Given the description of an element on the screen output the (x, y) to click on. 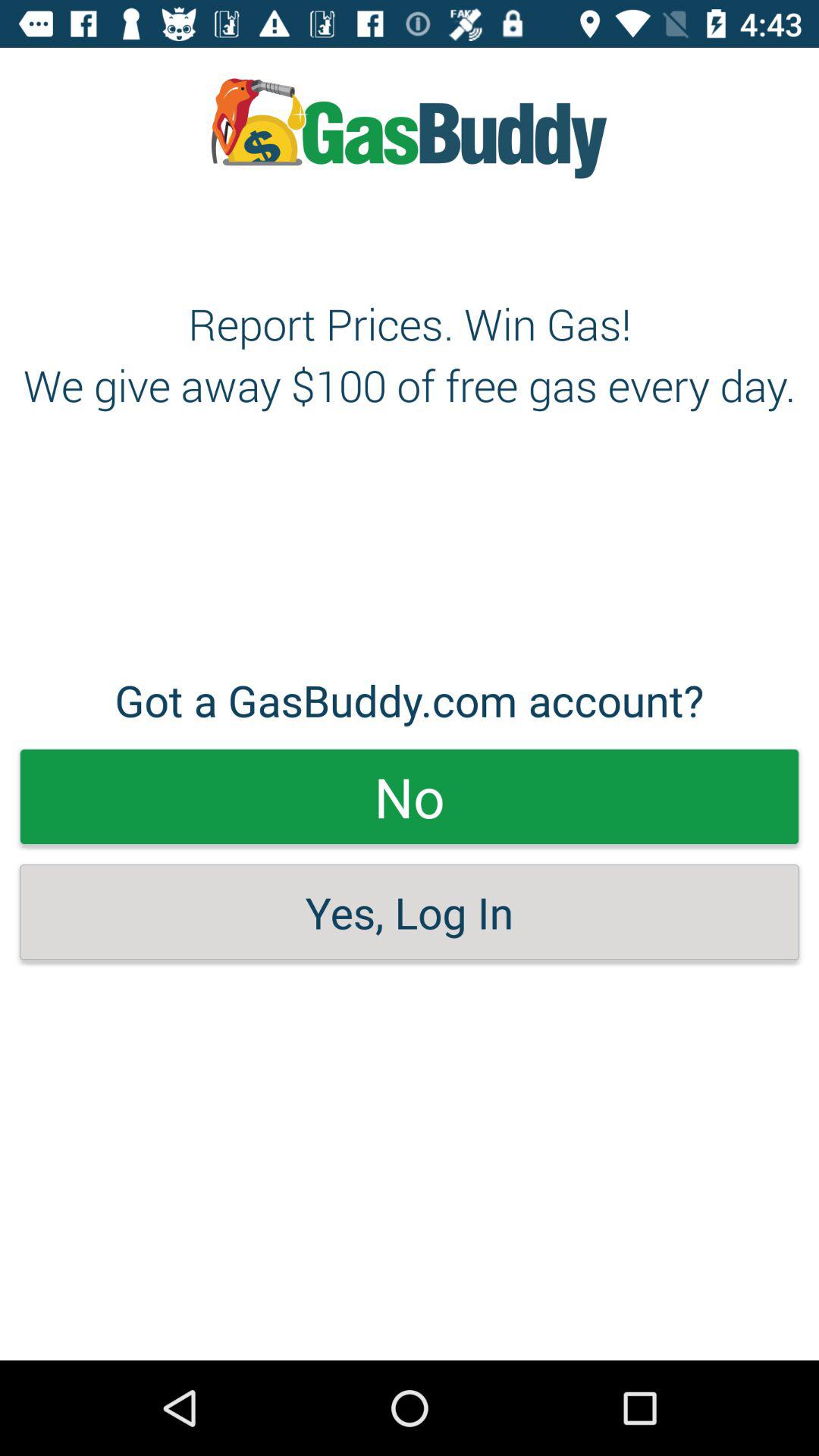
choose no icon (409, 796)
